Given the description of an element on the screen output the (x, y) to click on. 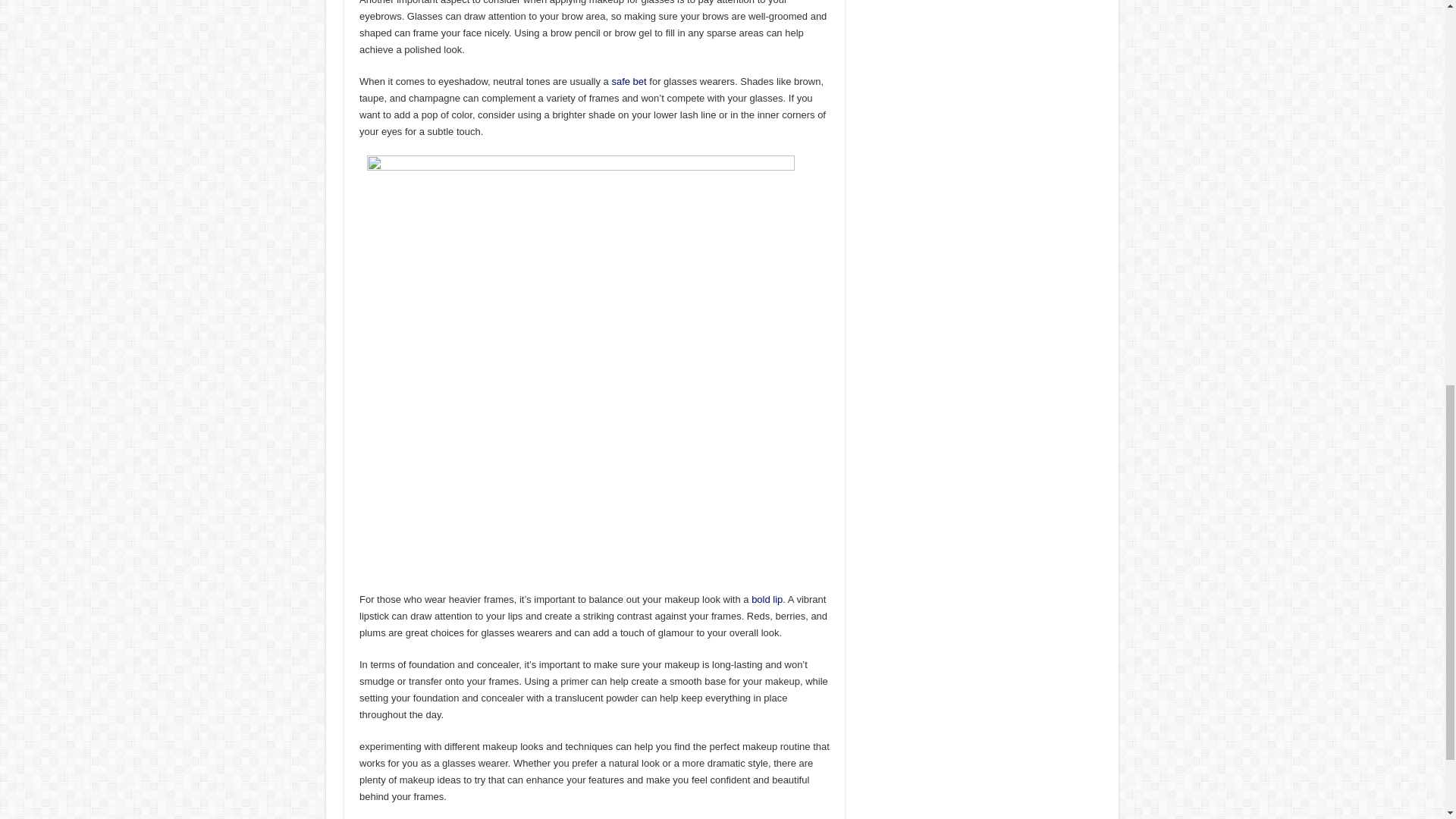
bold lip (767, 599)
Enhance Your Look: Makeup Ideas for Glasses Wearers (580, 368)
Vintage Glamour: How to Achieve 1950s Inspired Makeup (767, 599)
Stylish and Professional Maternity Attire for the Workplace (628, 81)
safe bet (628, 81)
